Given the description of an element on the screen output the (x, y) to click on. 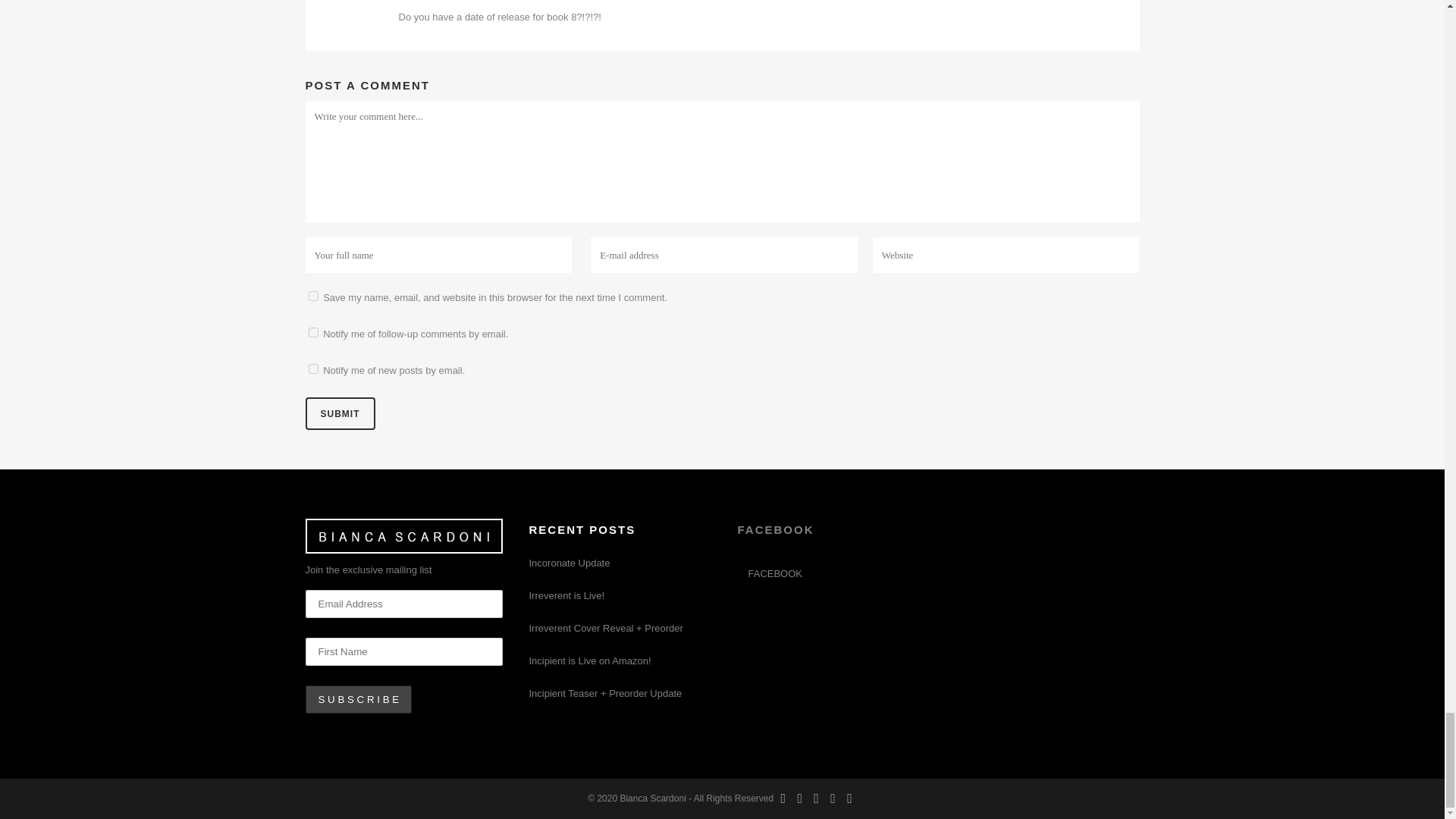
Submit (339, 413)
subscribe (312, 332)
S U B S C R I B E (358, 699)
yes (312, 296)
subscribe (312, 368)
